Given the description of an element on the screen output the (x, y) to click on. 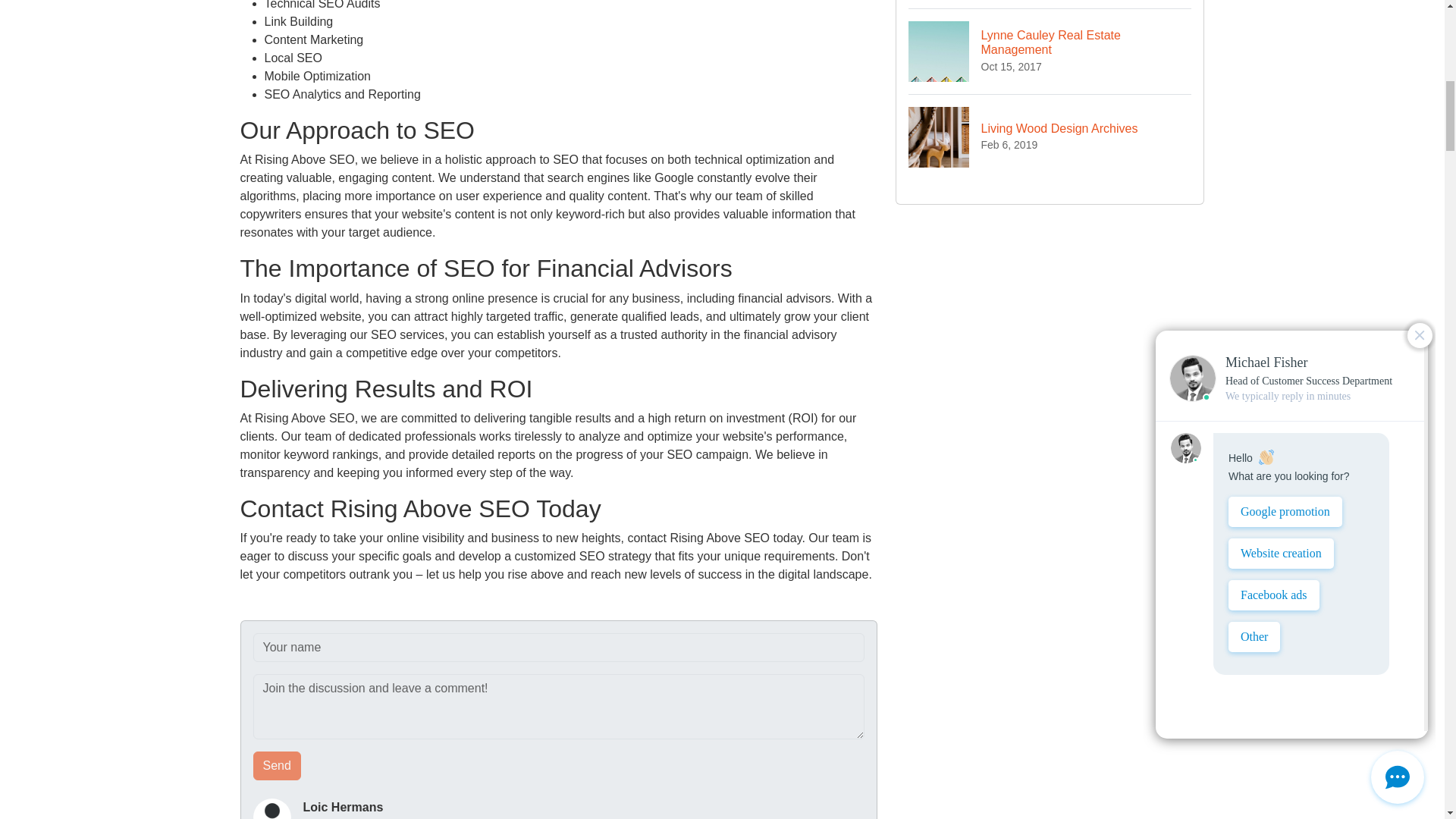
Send (277, 765)
Send (1050, 136)
